Given the description of an element on the screen output the (x, y) to click on. 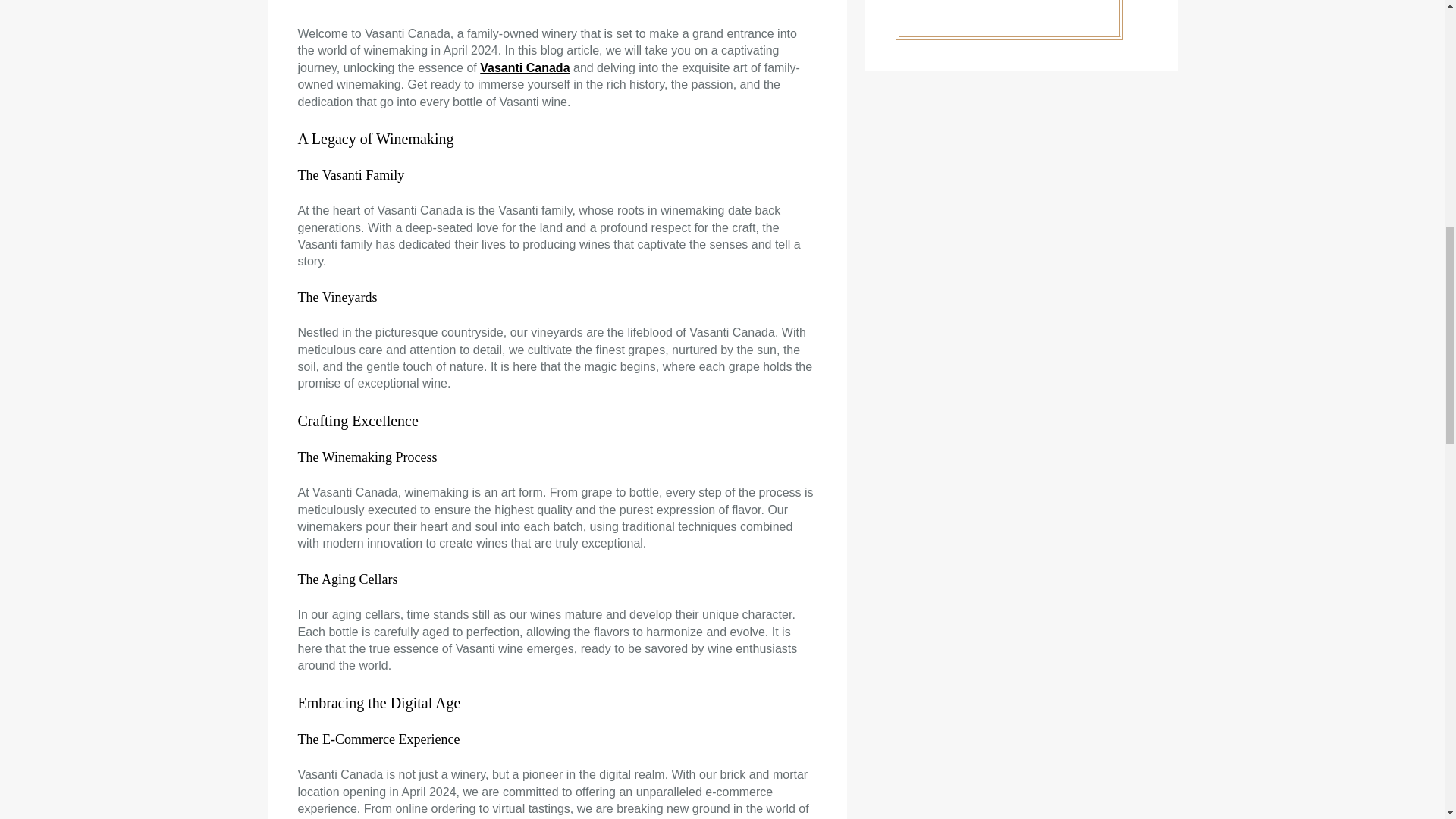
Vasanti Canada (524, 67)
